Given the description of an element on the screen output the (x, y) to click on. 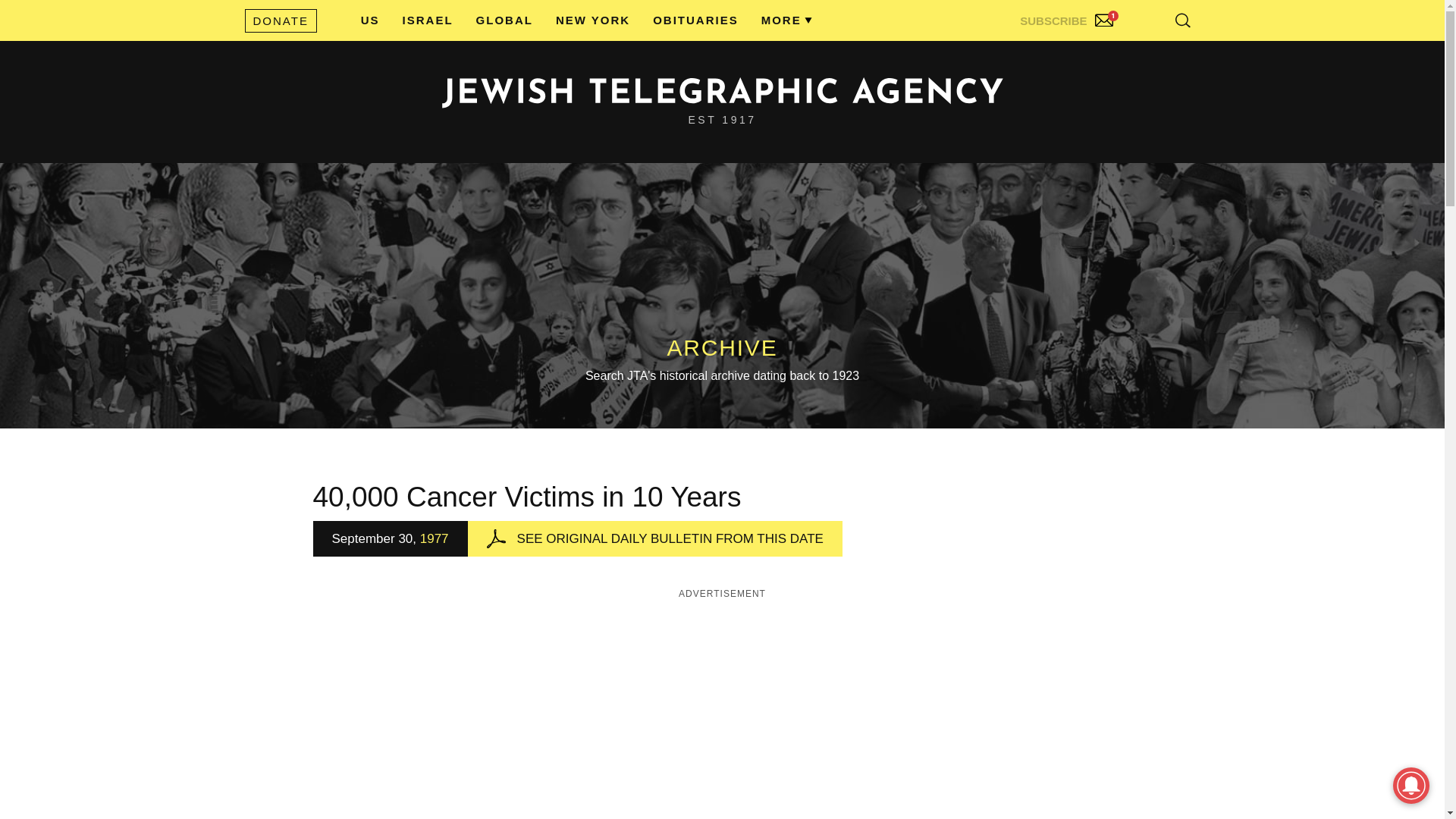
SEARCH TOGGLESEARCH TOGGLE (1182, 20)
SUBSCRIBE (1068, 17)
US (370, 19)
ISRAEL (427, 19)
Search (1144, 53)
NEW YORK (593, 19)
GLOBAL (504, 19)
OBITUARIES (695, 19)
DONATE (279, 20)
MORE (781, 19)
